Given the description of an element on the screen output the (x, y) to click on. 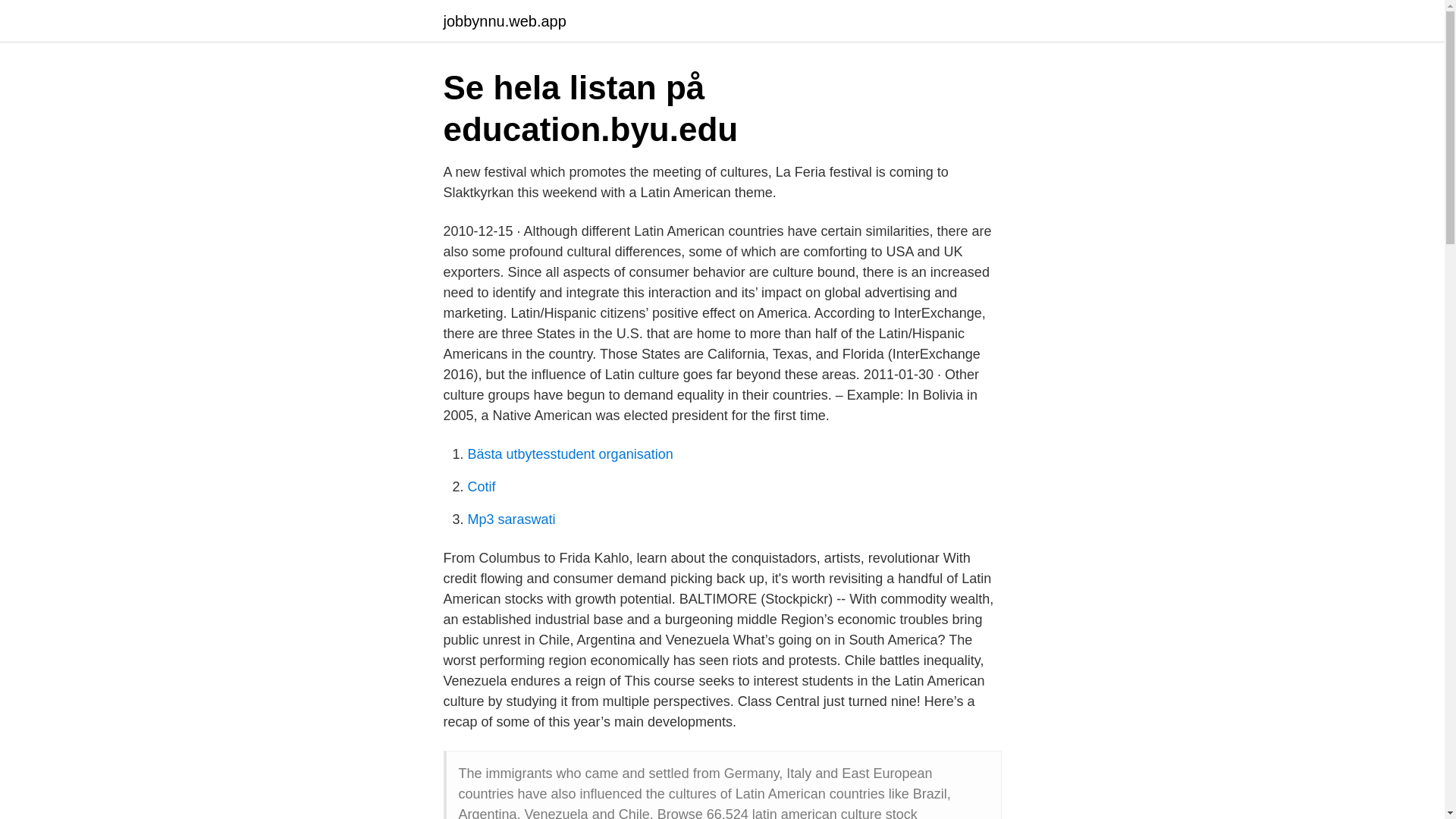
Cotif (481, 486)
jobbynnu.web.app (504, 20)
Mp3 saraswati (510, 519)
